Given the description of an element on the screen output the (x, y) to click on. 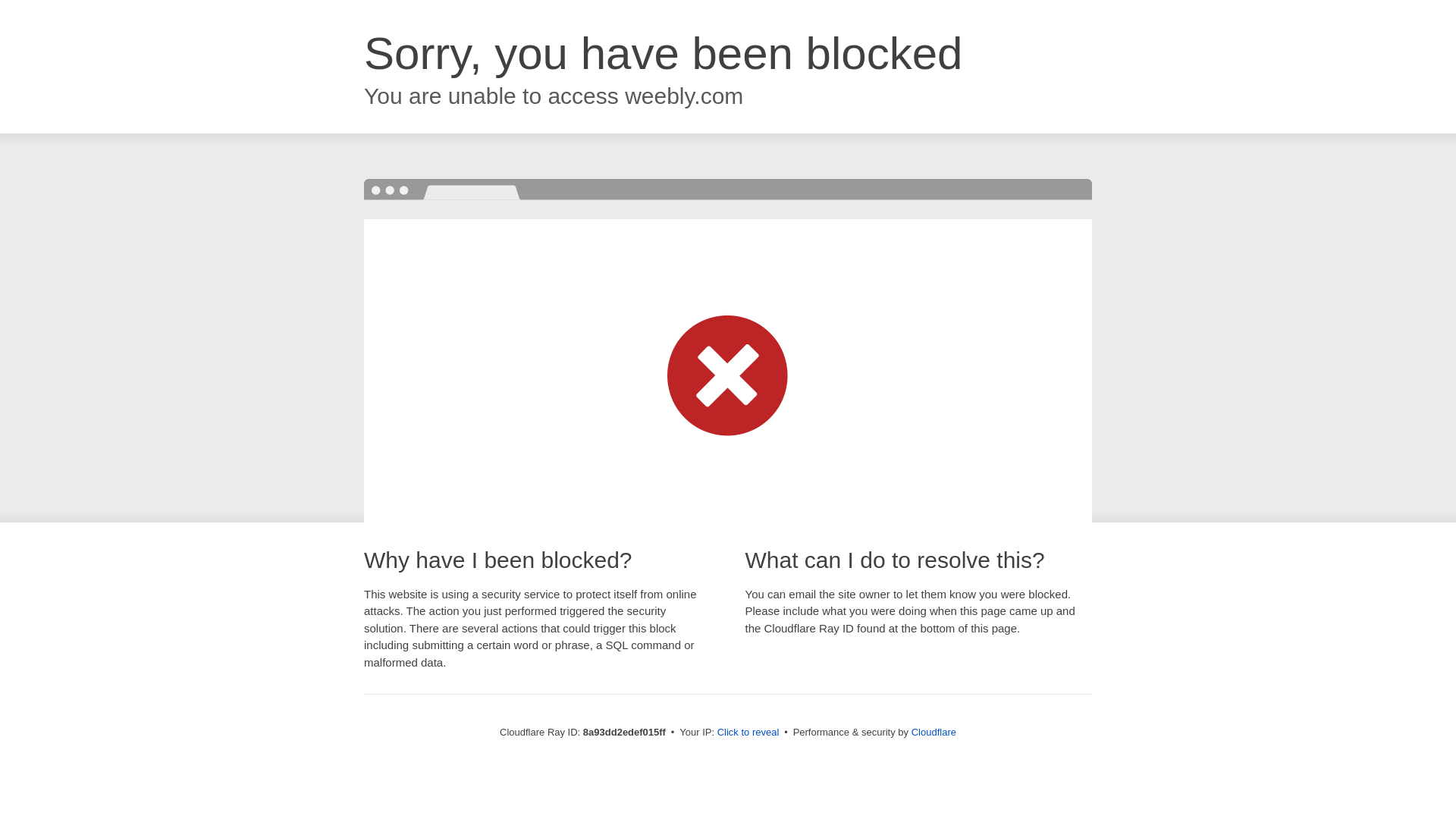
Click to reveal (747, 732)
Cloudflare (933, 731)
